Given the description of an element on the screen output the (x, y) to click on. 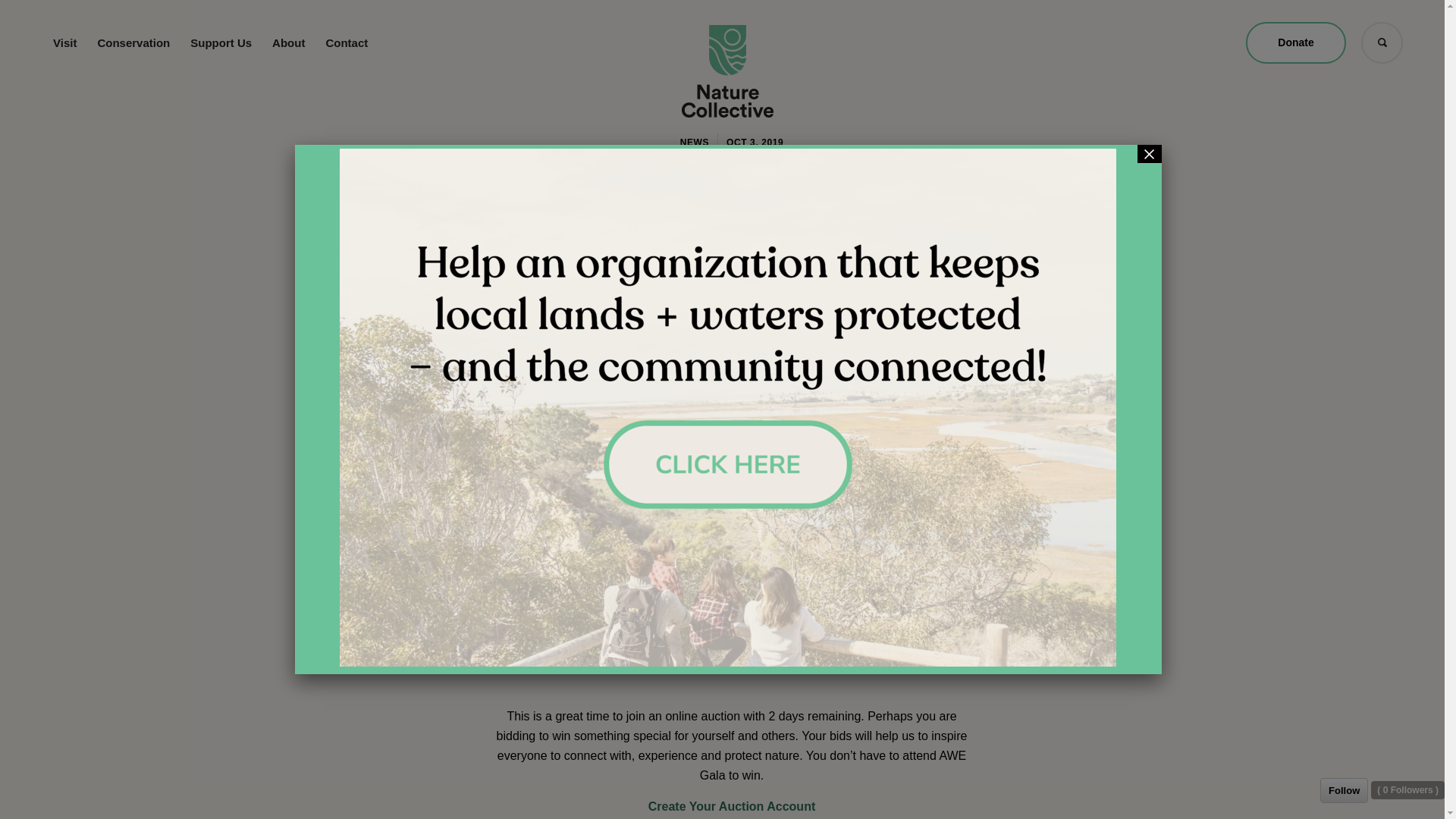
Conservation (133, 43)
Visit (64, 43)
